Given the description of an element on the screen output the (x, y) to click on. 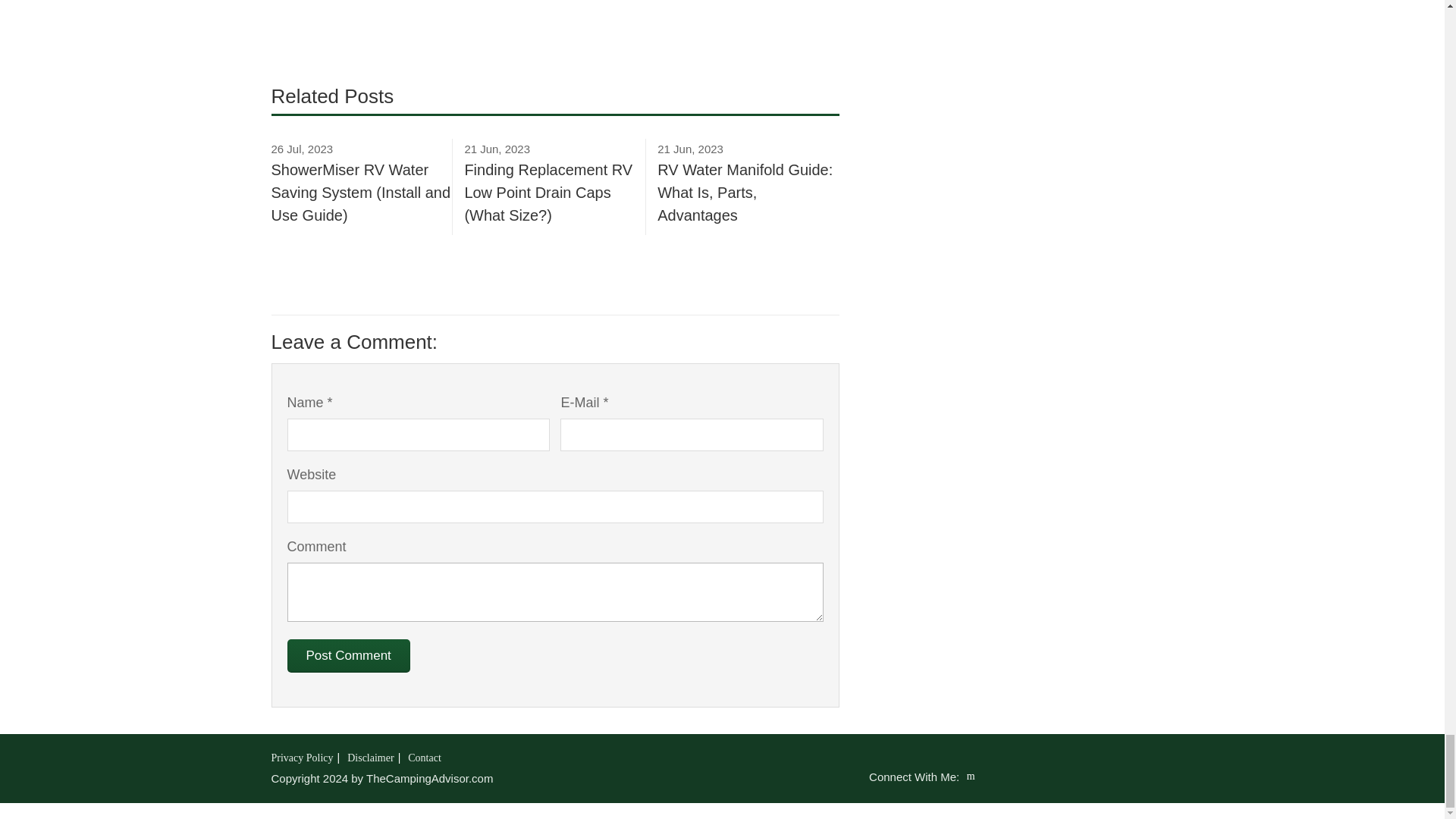
Post Comment (347, 655)
